Given the description of an element on the screen output the (x, y) to click on. 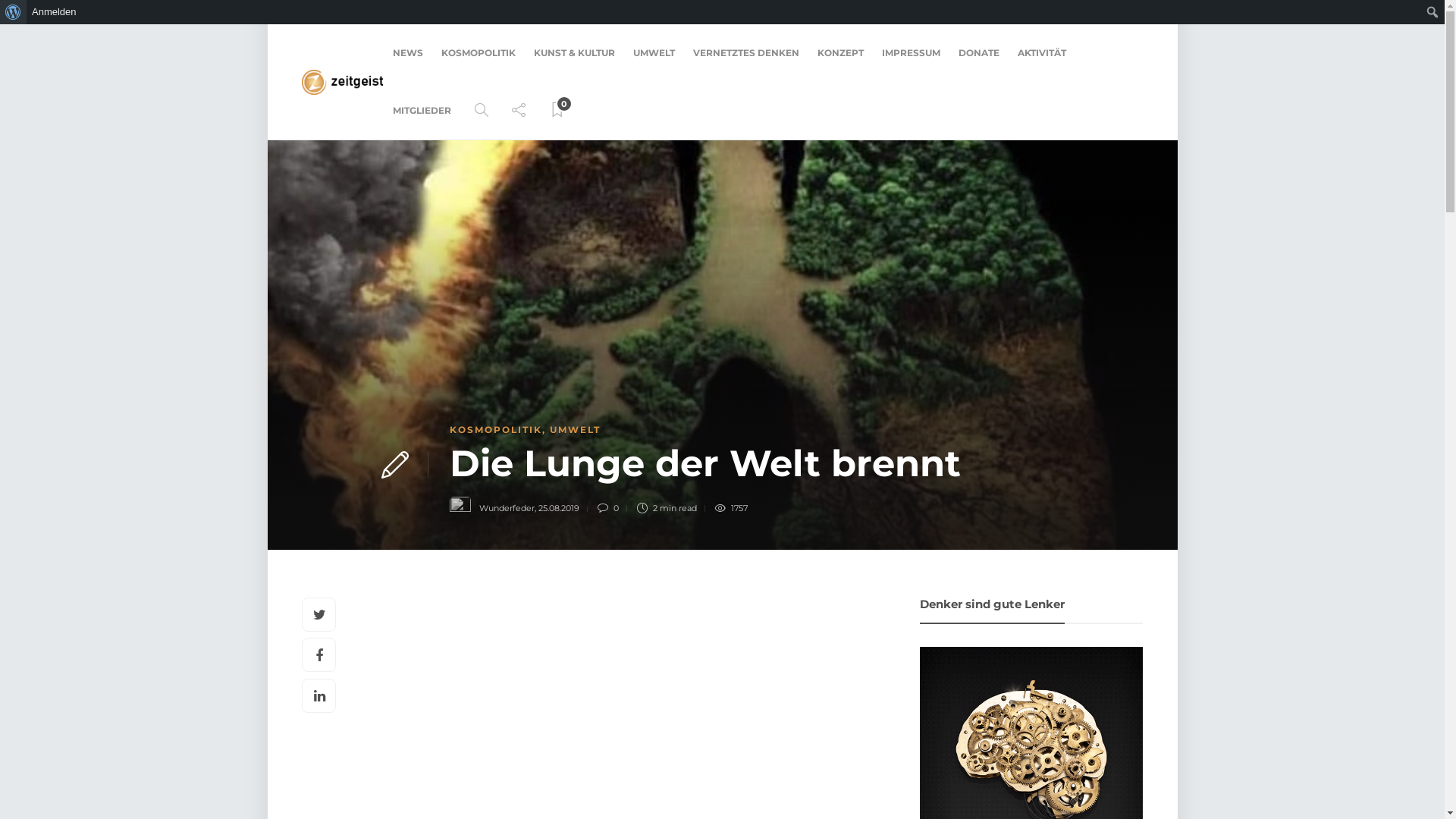
0 Element type: text (610, 508)
KOSMOPOLITIK Element type: text (494, 429)
VERNETZTES DENKEN Element type: text (746, 52)
Anmelden Element type: text (54, 12)
NEWS Element type: text (407, 52)
MITGLIEDER Element type: text (421, 110)
UMWELT Element type: text (574, 429)
Wunderfeder Element type: text (506, 507)
0 Element type: text (557, 110)
DONATE Element type: text (978, 52)
KUNST & KULTUR Element type: text (574, 52)
UMWELT Element type: text (653, 52)
KOSMOPOLITIK Element type: text (478, 52)
Suchen Element type: text (18, 13)
25.08.2019 Element type: text (558, 507)
IMPRESSUM Element type: text (910, 52)
KONZEPT Element type: text (840, 52)
